Given the description of an element on the screen output the (x, y) to click on. 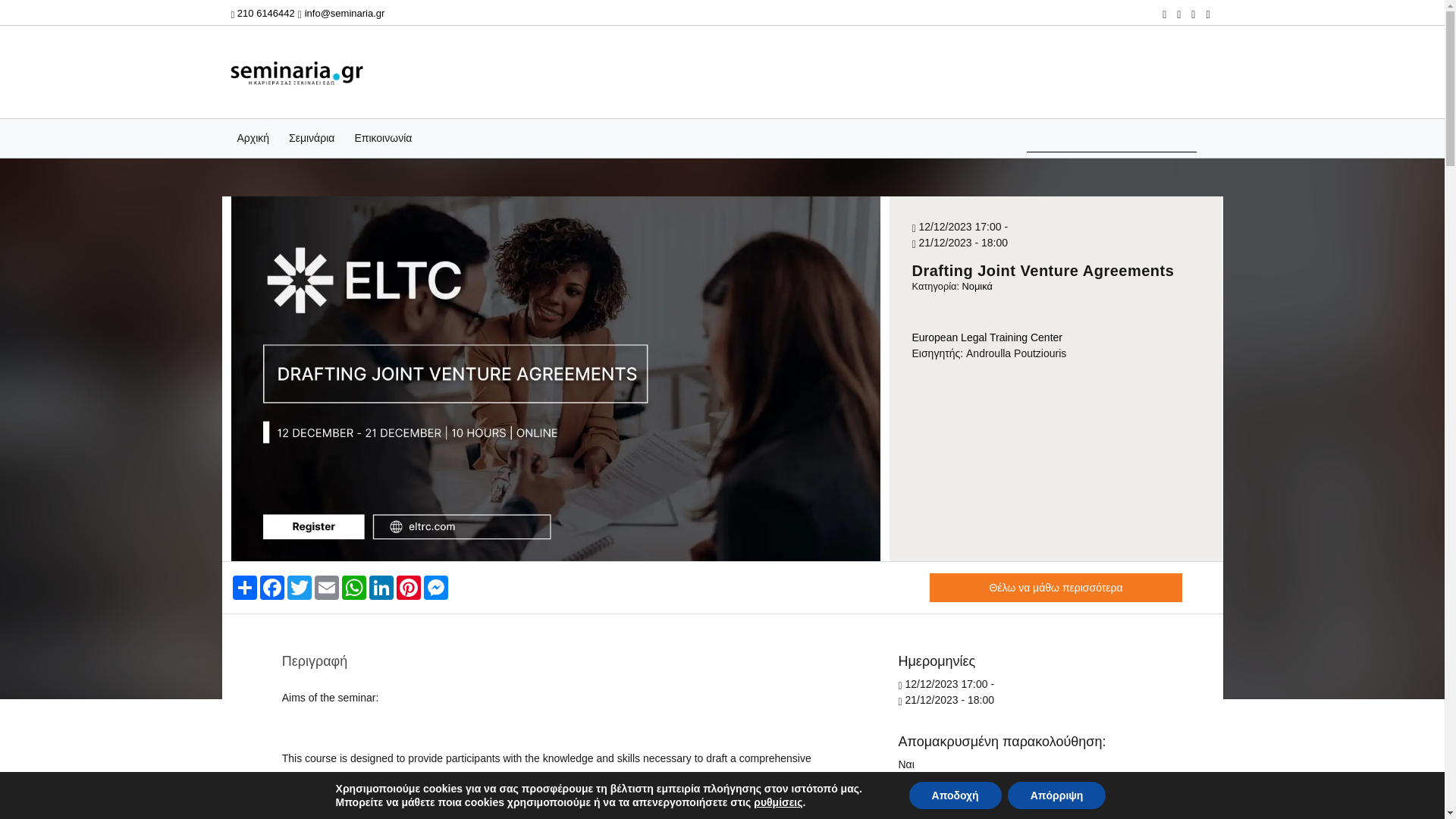
LinkedIn (380, 587)
Facebook (271, 587)
WhatsApp (352, 587)
Messenger (435, 587)
Seminaria.gr (296, 70)
European Legal Training Center (986, 337)
Pinterest (408, 587)
Share (243, 587)
Twitter (299, 587)
210 6146442 (262, 12)
Email (326, 587)
